Given the description of an element on the screen output the (x, y) to click on. 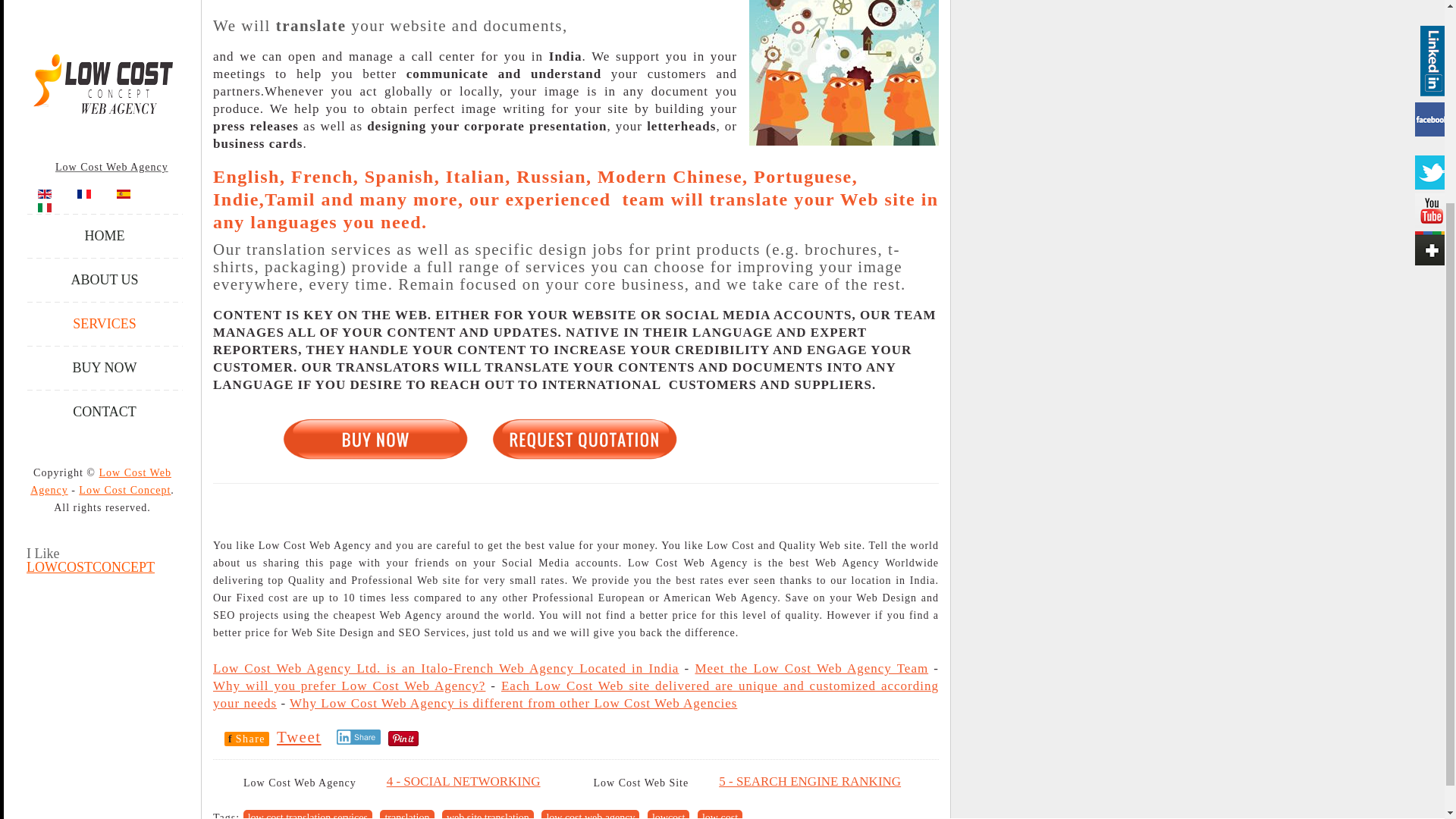
Pinit Fg En Rect Red 20 (403, 738)
Tweet (298, 737)
ABOUT US (104, 15)
Why will you prefer Low Cost Web Agency? (348, 685)
Pinit Fg En Rect Red 20 (403, 737)
5 - SEARCH ENGINE RANKING (809, 781)
4 - SOCIAL NETWORKING (463, 781)
Request Quotation (584, 438)
Tweet (298, 737)
Meet the Low Cost Web Agency Team (811, 667)
Share (358, 736)
